Given the description of an element on the screen output the (x, y) to click on. 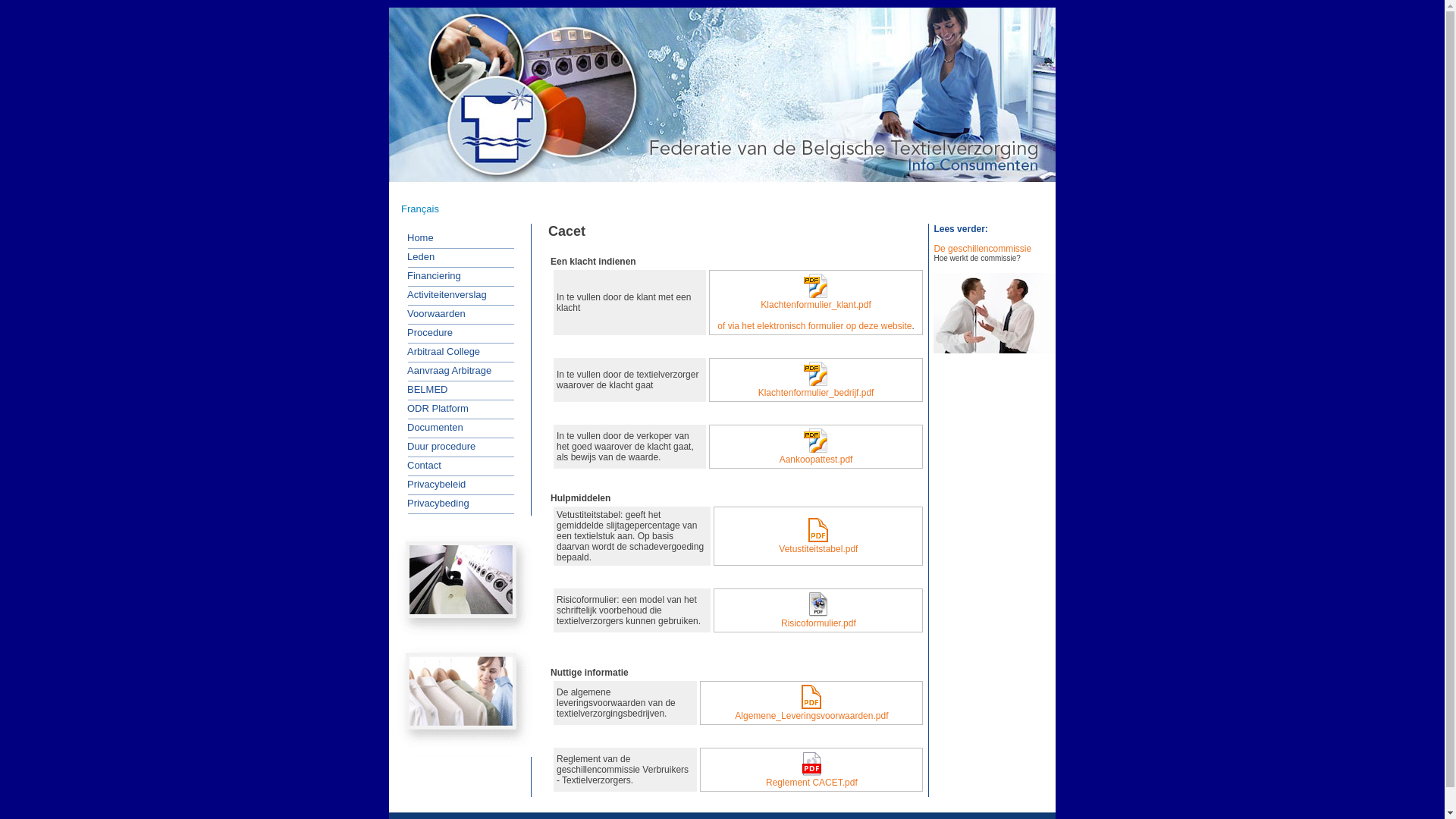
Algemene_Leveringsvoorwaarden.pdf Element type: text (811, 702)
ODR Platform Element type: text (432, 408)
Home Element type: text (414, 237)
Klachtenformulier_klant.pdf Element type: text (815, 291)
of via het elektronisch formulier op deze website Element type: text (814, 325)
Financiering Element type: text (428, 274)
De geschillencommissie Element type: text (982, 248)
Activiteitenverslag Element type: text (441, 294)
Klachtenformulier_bedrijf.pdf Element type: text (815, 379)
Privacybeding Element type: text (432, 502)
Risicoformulier.pdf Element type: text (818, 610)
Procedure Element type: text (424, 332)
Privacybeleid Element type: text (430, 484)
Vetustiteitstabel.pdf Element type: text (818, 535)
Arbitraal College Element type: text (438, 350)
BELMED Element type: text (421, 388)
Documenten Element type: text (429, 426)
Aankoopattest.pdf Element type: text (816, 446)
Contact Element type: text (418, 464)
Voorwaarden Element type: text (430, 312)
Leden Element type: text (415, 256)
Aanvraag Arbitrage Element type: text (443, 370)
Reglement CACET.pdf Element type: text (811, 769)
Duur procedure Element type: text (435, 446)
